Given the description of an element on the screen output the (x, y) to click on. 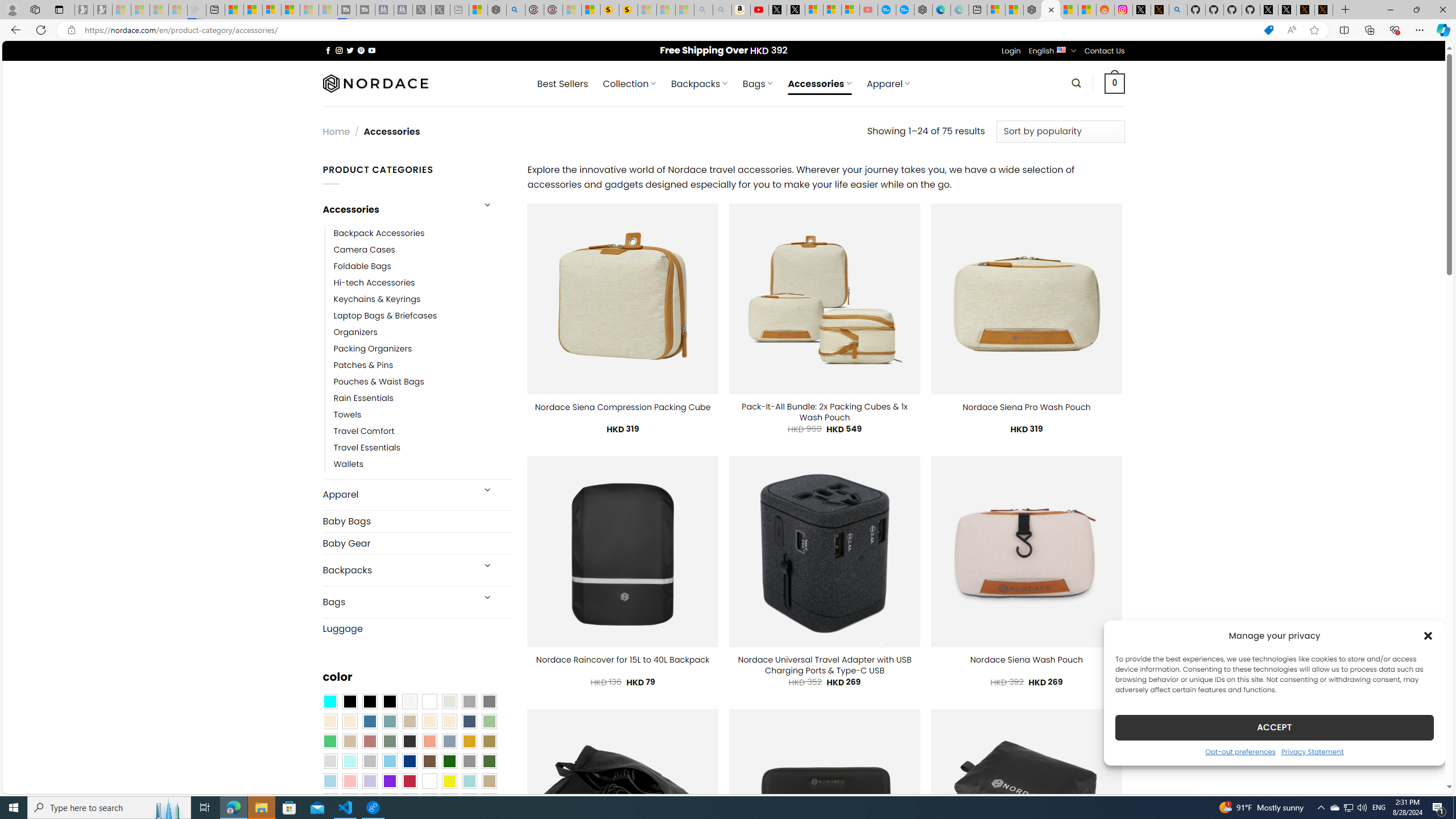
All Gray (488, 701)
  0   (1115, 83)
 0  (1115, 83)
Nordace - Best Sellers (1032, 9)
Clear (429, 701)
Rain Essentials (422, 398)
Home (335, 131)
Black (369, 701)
Keychains & Keyrings (376, 298)
